Given the description of an element on the screen output the (x, y) to click on. 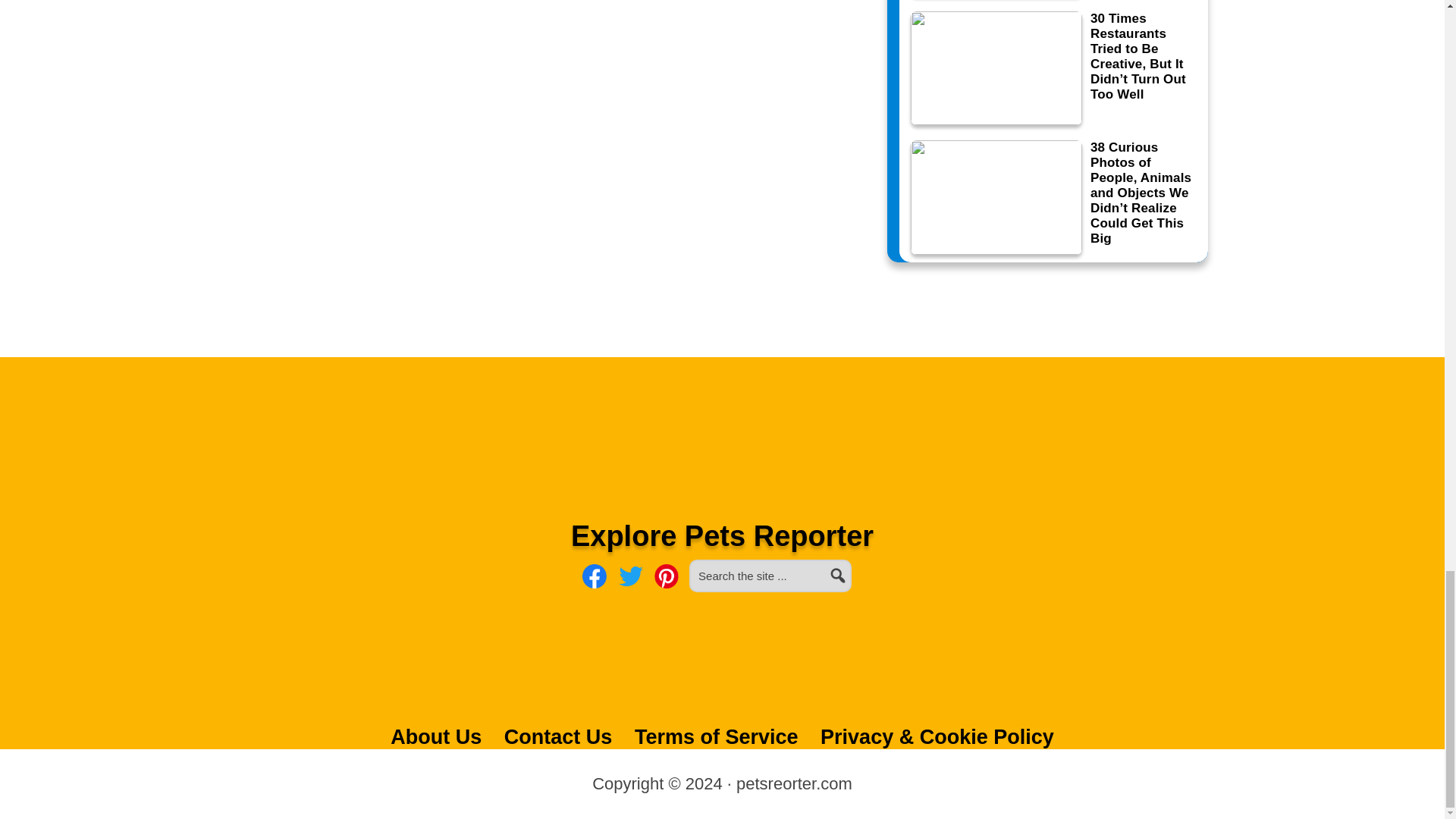
Search (858, 566)
Search (858, 566)
